Given the description of an element on the screen output the (x, y) to click on. 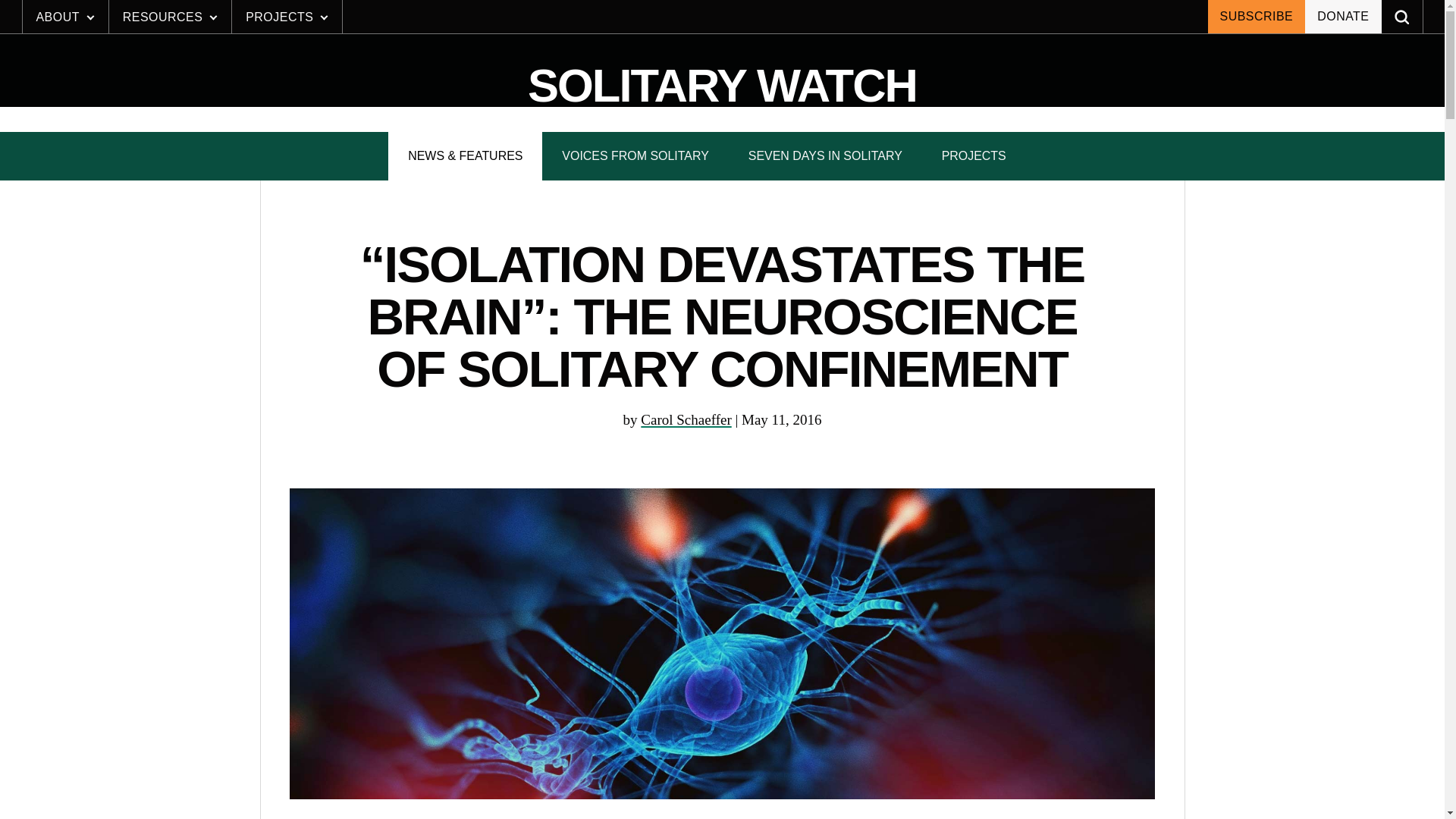
Posts by Carol Schaeffer (685, 419)
Carol Schaeffer (685, 419)
SUBSCRIBE (1255, 16)
PROJECTS (286, 17)
SEVEN DAYS IN SOLITARY (825, 155)
DONATE (1342, 16)
PROJECTS (973, 155)
RESOURCES (170, 17)
SOLITARY WATCH (721, 86)
ABOUT (65, 17)
